Given the description of an element on the screen output the (x, y) to click on. 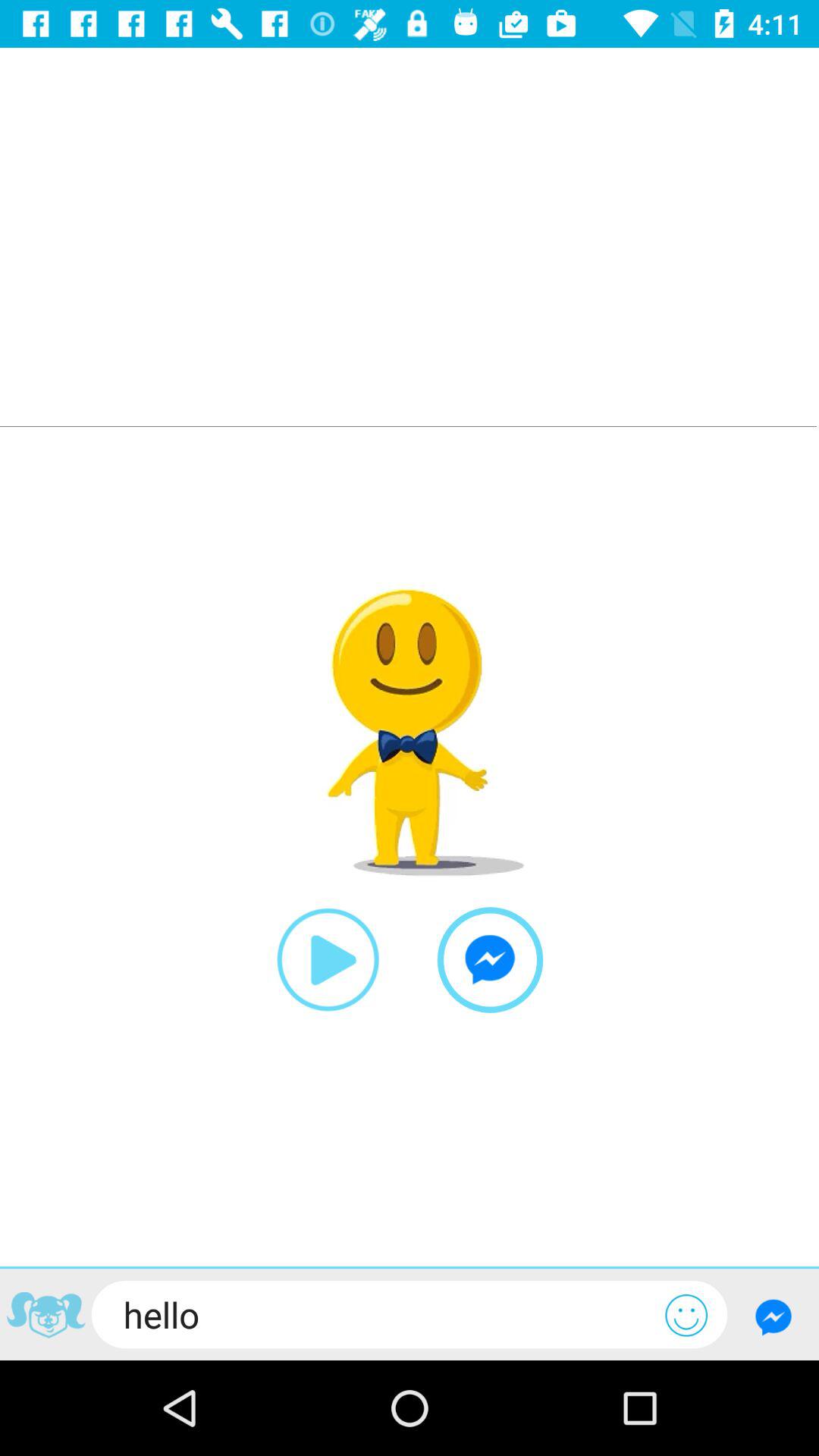
go to messenger chat (773, 1316)
